Given the description of an element on the screen output the (x, y) to click on. 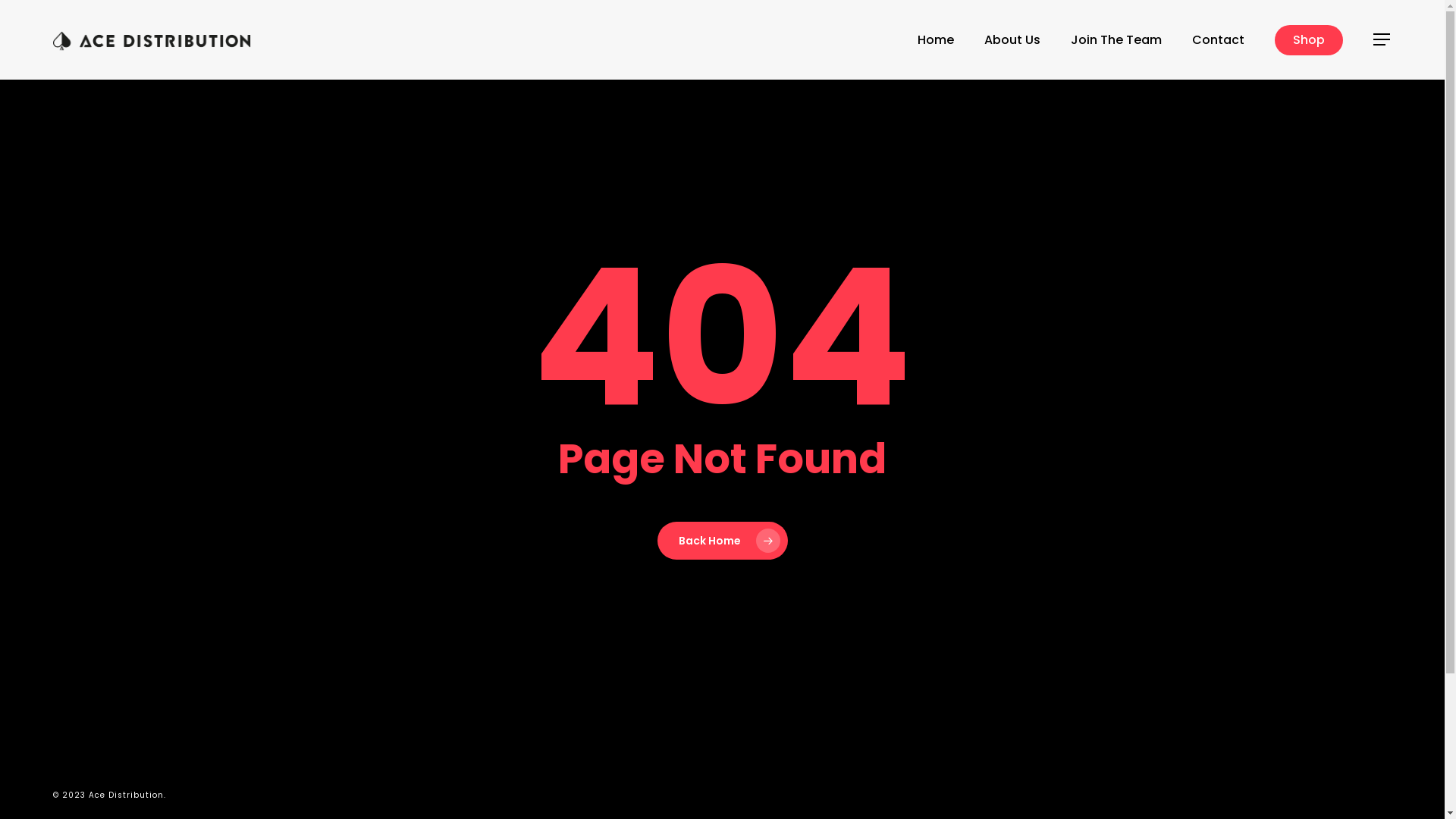
Back Home Element type: text (721, 540)
Kundenservice Element type: text (443, 630)
Join The Team Element type: text (1115, 39)
info@acedistribution.ch Element type: text (813, 703)
Menu Element type: text (1382, 39)
Shop Element type: text (1308, 39)
Lieferbedingungen Element type: text (457, 667)
Contact Element type: text (1218, 39)
Kundenservice Element type: text (784, 630)
Retouren Element type: text (424, 685)
+41 55 418 40 90 Element type: text (788, 685)
About Us Element type: text (1012, 39)
Home Element type: text (935, 39)
